Given the description of an element on the screen output the (x, y) to click on. 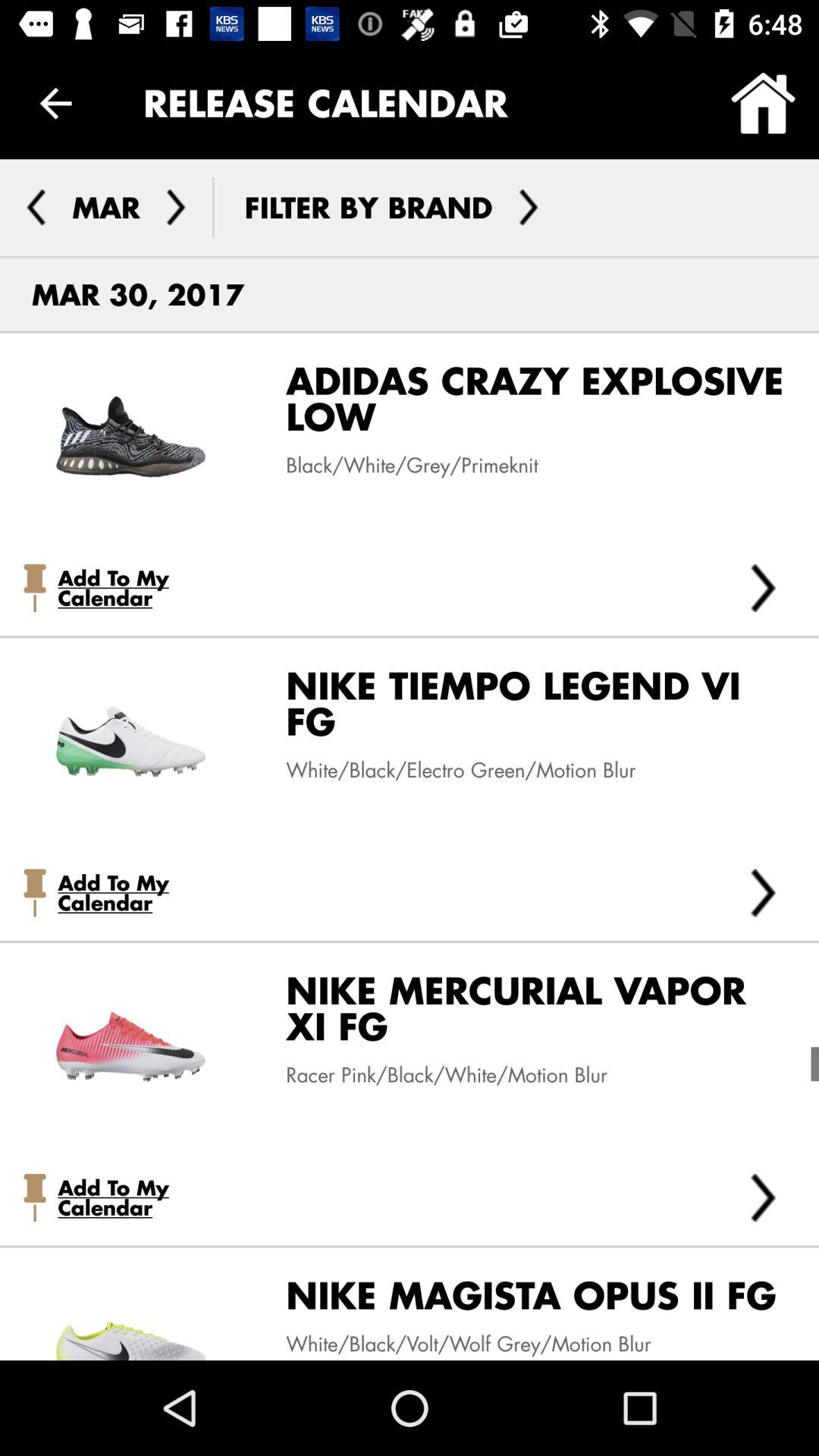
the button is used to move the release date calendar forward to the next month (175, 207)
